Given the description of an element on the screen output the (x, y) to click on. 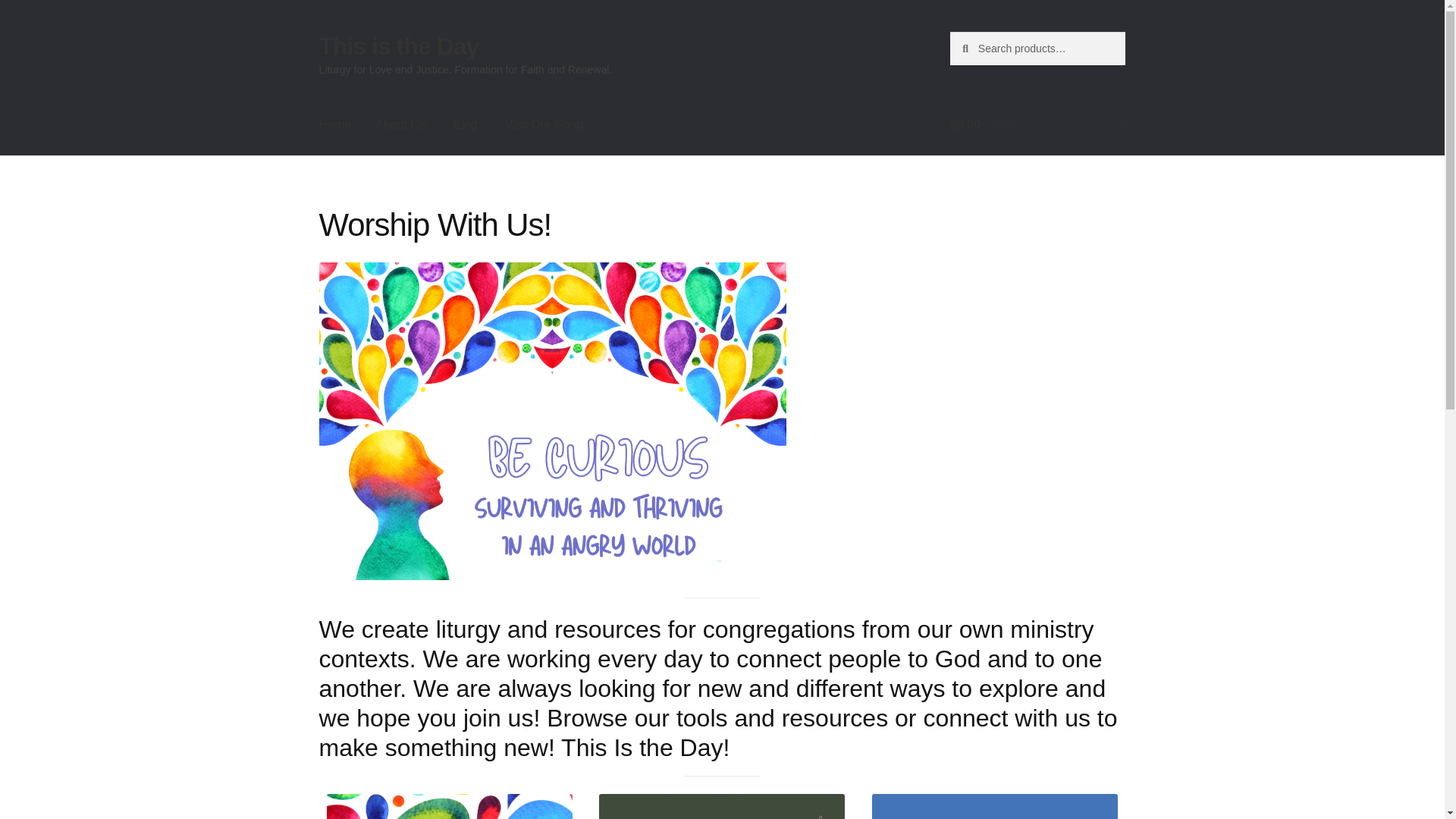
View your shopping cart (1037, 124)
Home (335, 124)
God on the Move: A Worship Series on Faith and Democracy (994, 806)
Be Curious: A Worship Series (449, 806)
Visit Our Shop (544, 124)
This is the Day (398, 45)
About Us (400, 124)
